Given the description of an element on the screen output the (x, y) to click on. 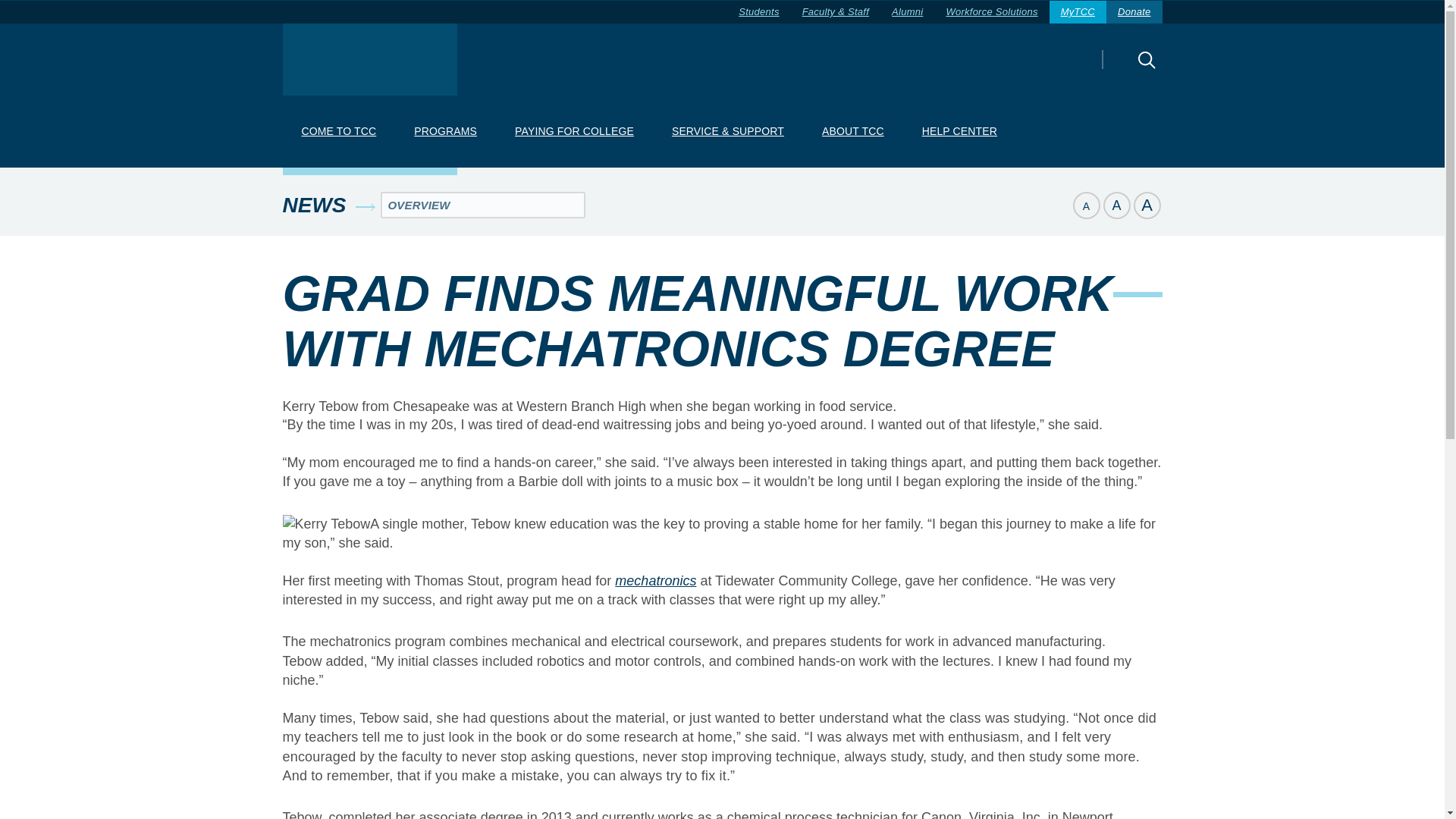
Set page copy to large size (1146, 205)
Students (758, 11)
Alumni (907, 11)
PROGRAMS (445, 131)
Set page copy to small size (1085, 205)
COME TO TCC (338, 131)
Tidewater Community College (369, 59)
Donate (1133, 11)
Workforce Solutions (991, 11)
MyTCC (1077, 11)
